Given the description of an element on the screen output the (x, y) to click on. 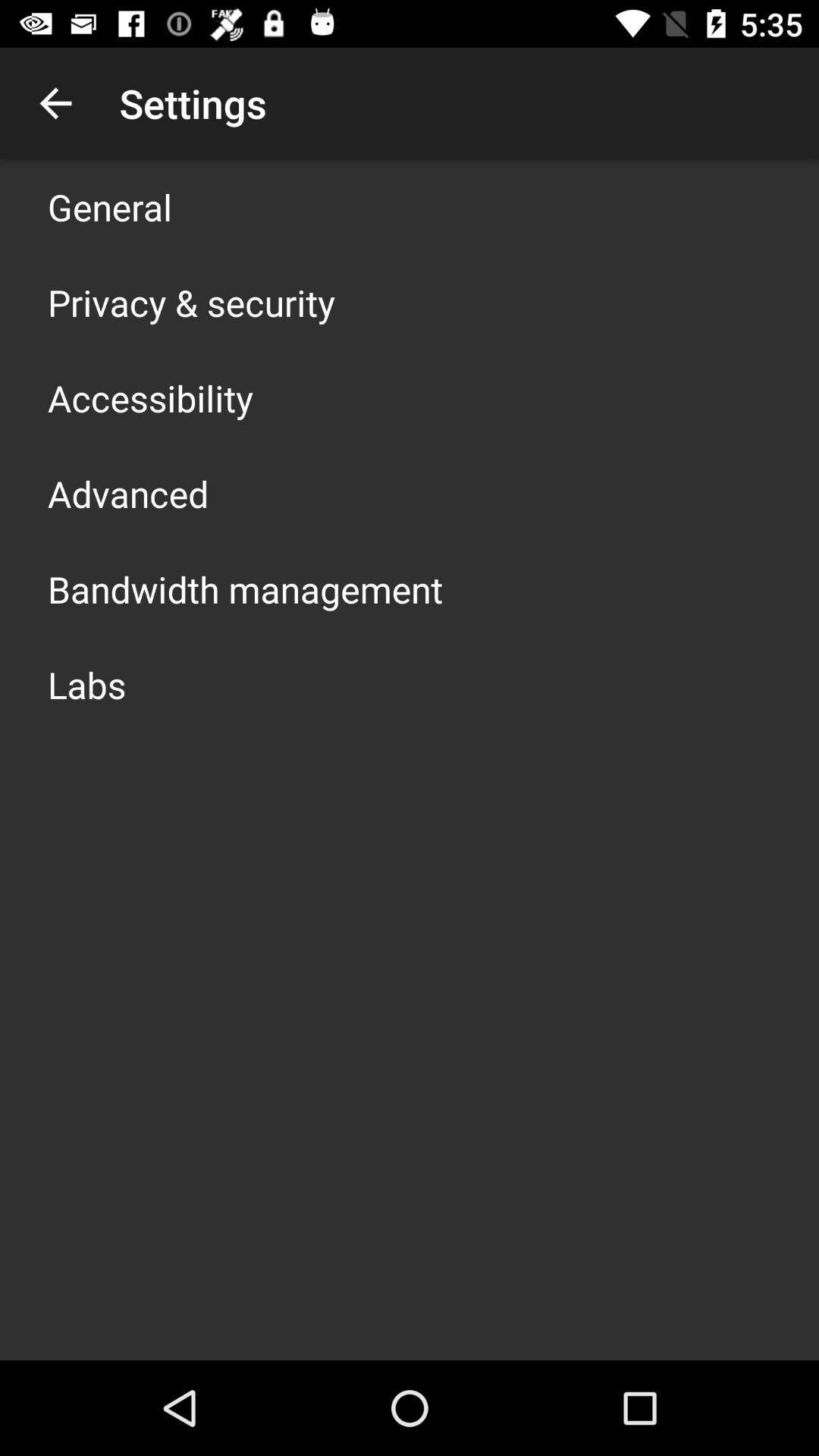
click item below the advanced app (245, 588)
